Given the description of an element on the screen output the (x, y) to click on. 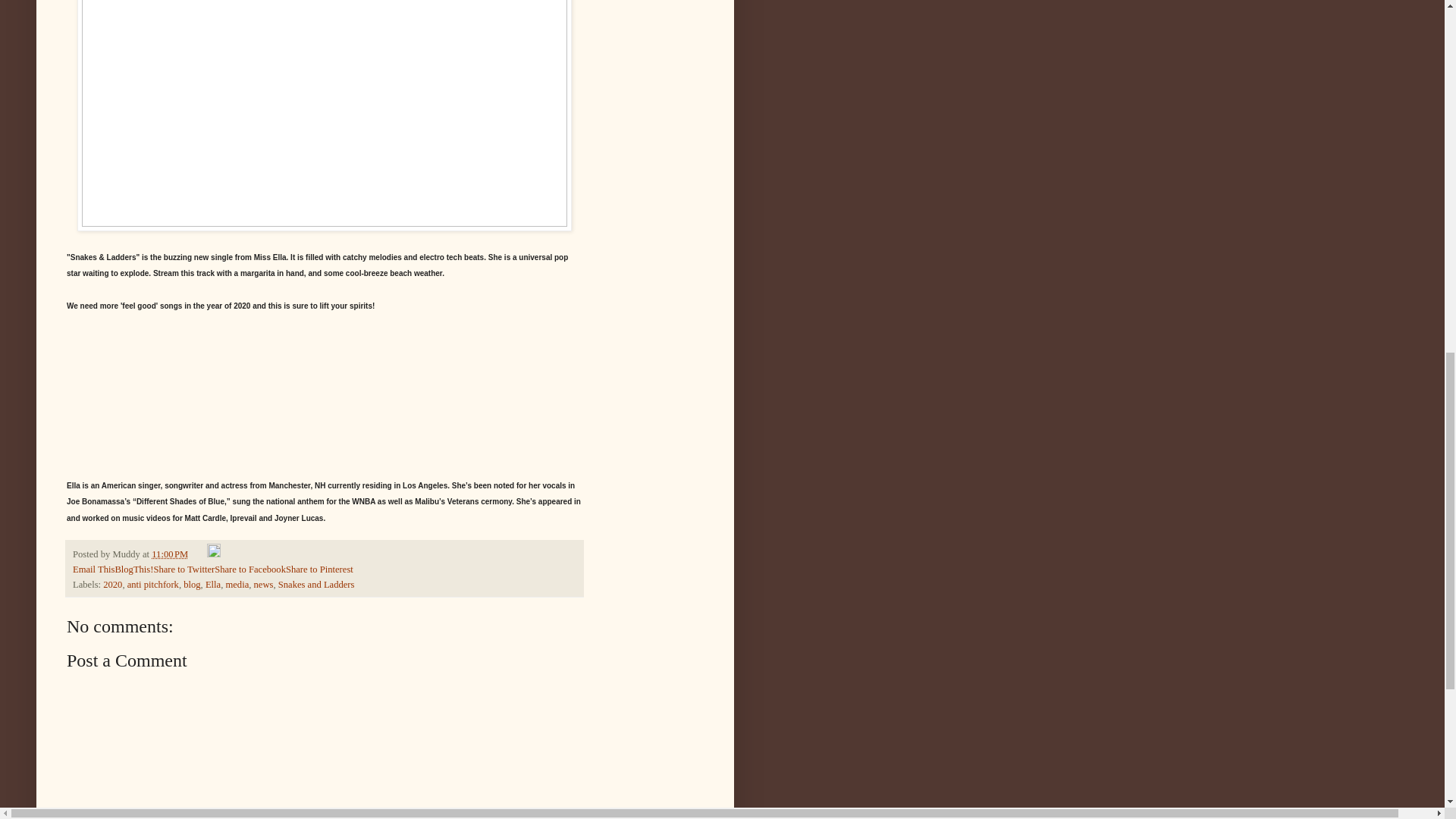
BlogThis! (133, 569)
Email This (93, 569)
Email Post (198, 553)
news (263, 584)
Share to Pinterest (319, 569)
blog (191, 584)
BlogThis! (133, 569)
Email This (93, 569)
Share to Pinterest (319, 569)
Share to Facebook (249, 569)
Share to Twitter (183, 569)
Share to Facebook (249, 569)
2020 (112, 584)
anti pitchfork (153, 584)
